Given the description of an element on the screen output the (x, y) to click on. 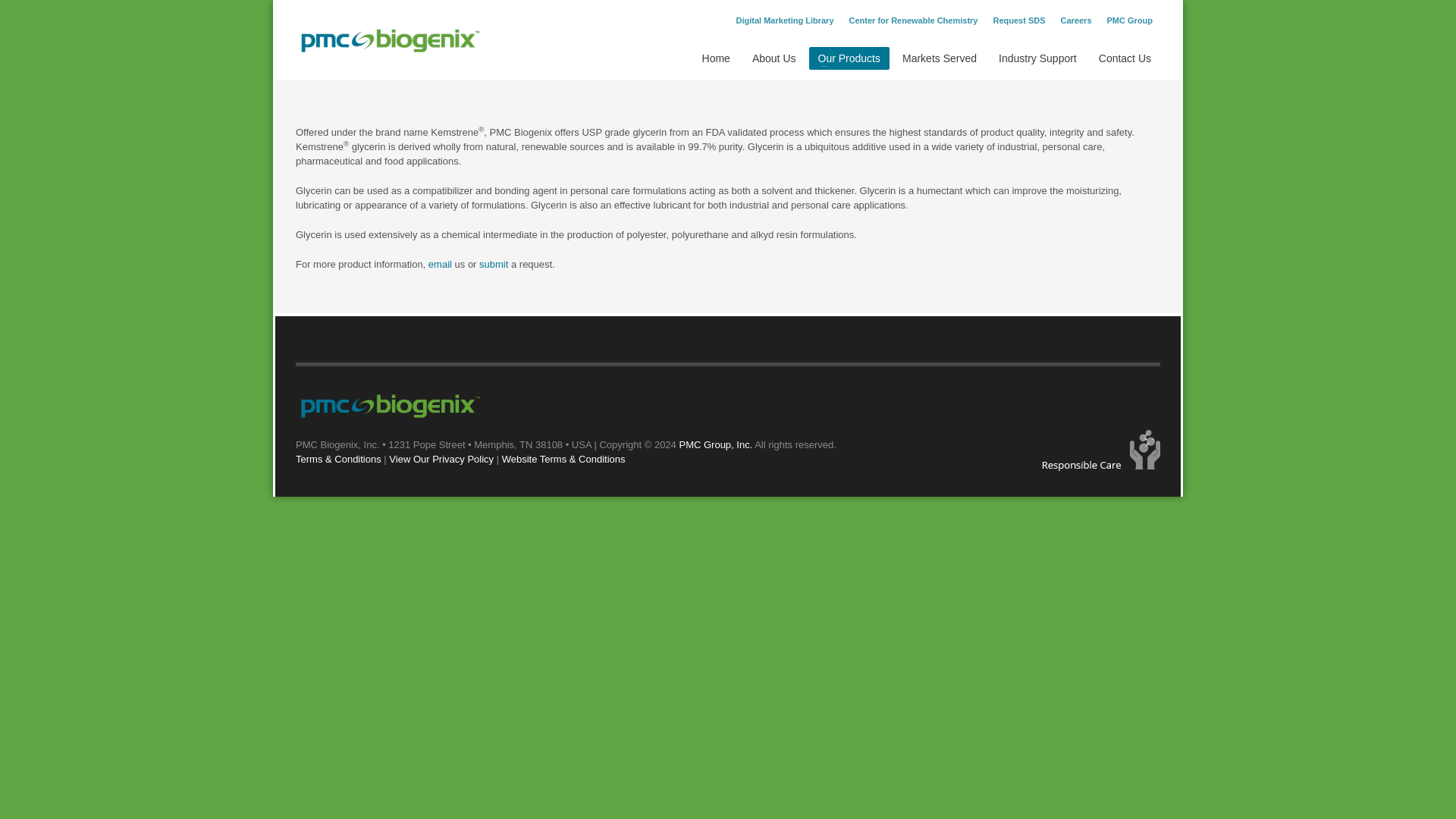
Center for Renewable Chemistry (913, 20)
Markets Served (939, 57)
Digital Marketing Library (785, 20)
PMC Group (1129, 20)
Our Products (848, 57)
Careers (1076, 20)
Home (716, 57)
Request SDS (1018, 20)
About Us (773, 57)
